Given the description of an element on the screen output the (x, y) to click on. 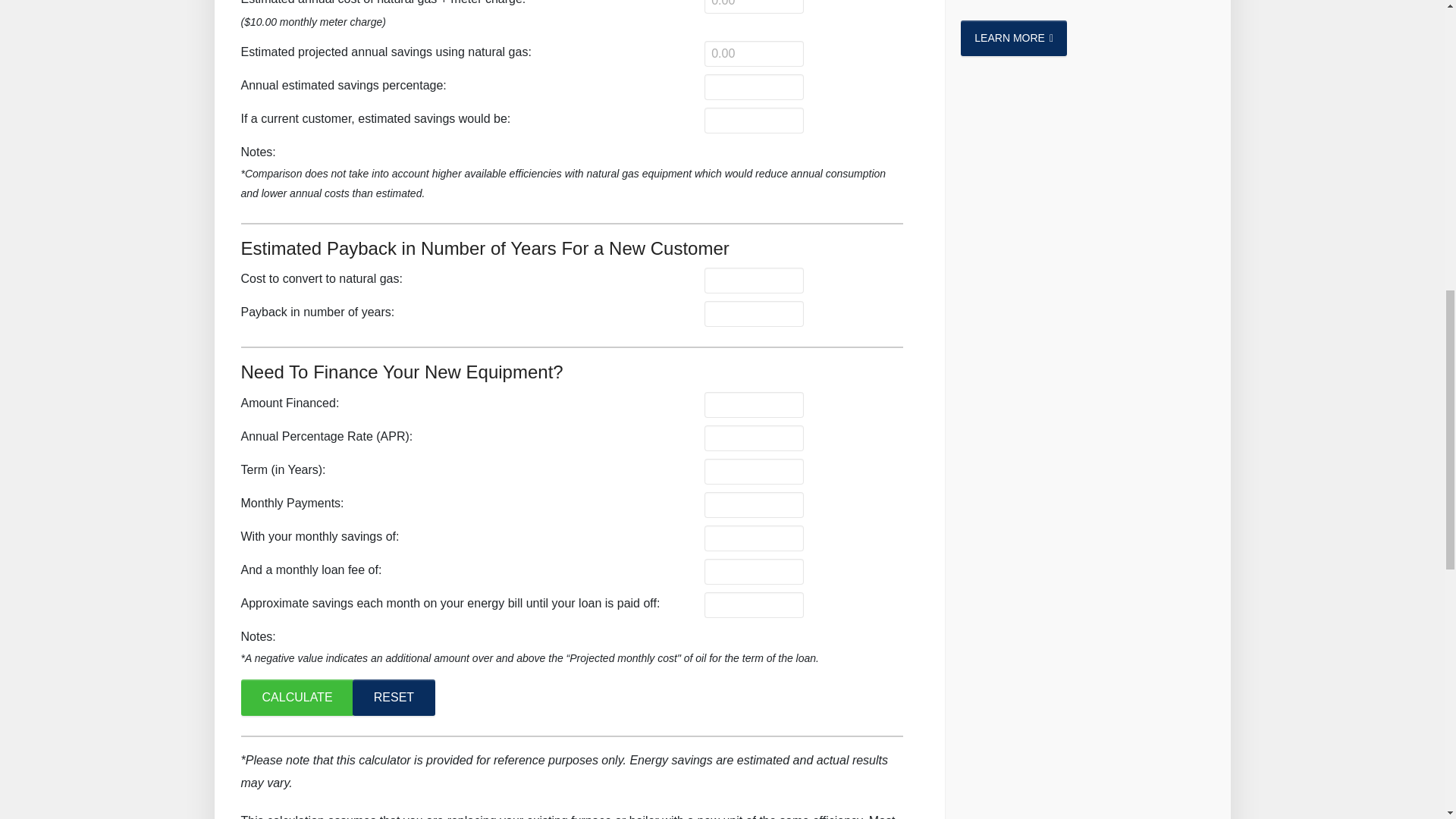
Calculate (297, 697)
Reset (393, 697)
